Given the description of an element on the screen output the (x, y) to click on. 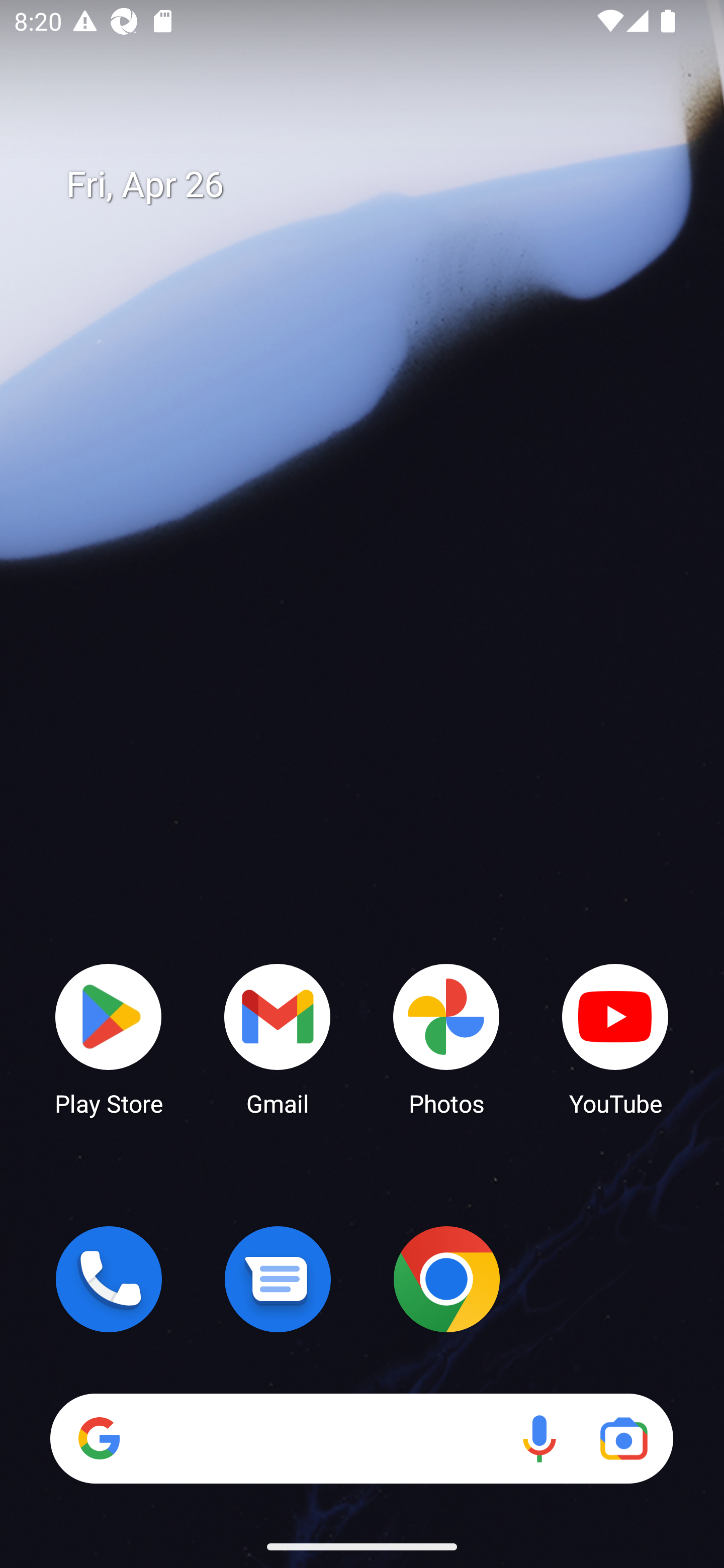
Fri, Apr 26 (375, 184)
Play Store (108, 1038)
Gmail (277, 1038)
Photos (445, 1038)
YouTube (615, 1038)
Phone (108, 1279)
Messages (277, 1279)
Chrome (446, 1279)
Search Voice search Google Lens (361, 1438)
Voice search (539, 1438)
Google Lens (623, 1438)
